Given the description of an element on the screen output the (x, y) to click on. 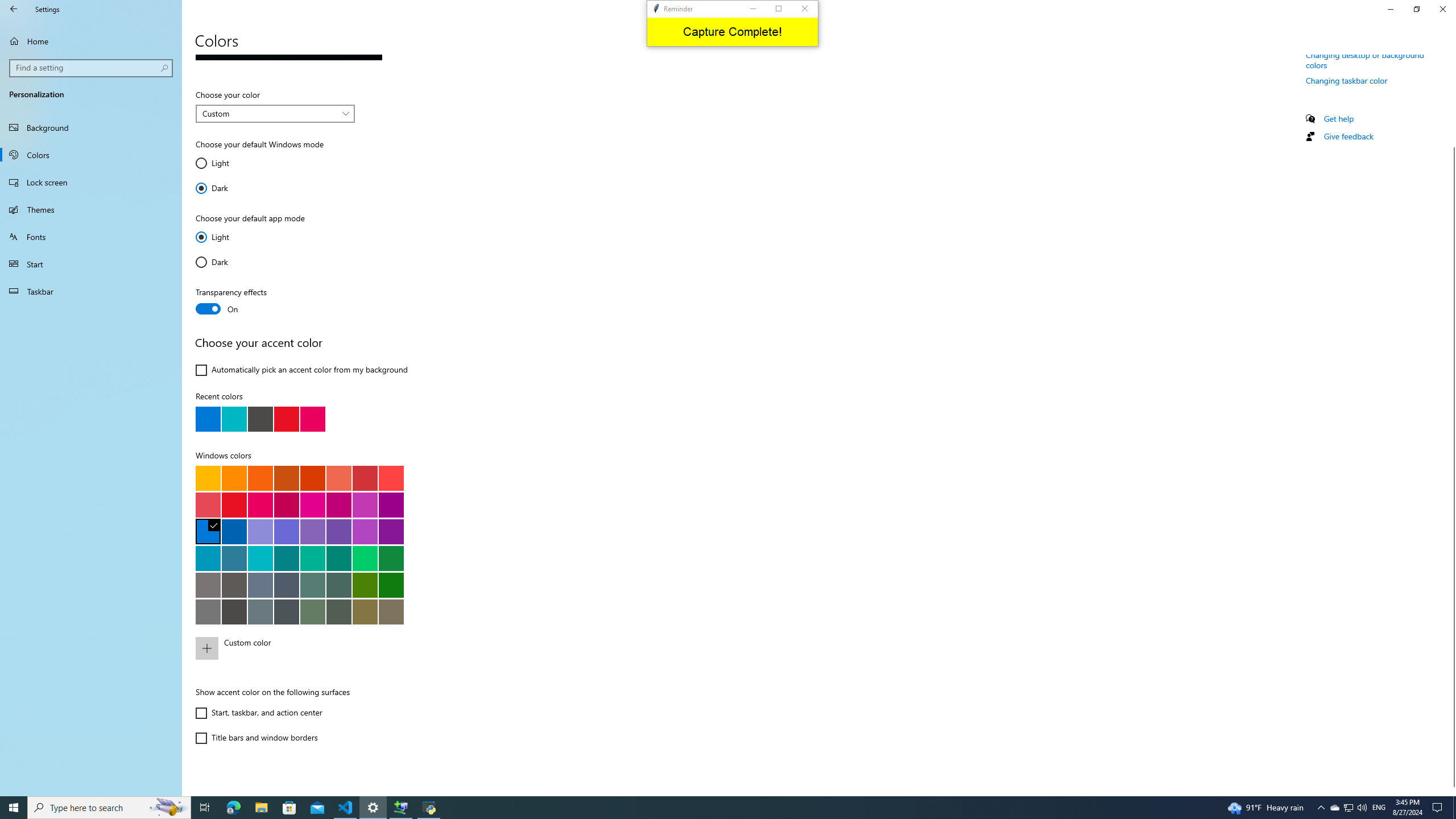
Gold (234, 477)
Changing taskbar color (1346, 80)
Green (390, 584)
Meadow green (364, 584)
Custom color (319, 648)
Liddy green (311, 611)
Vertical (1451, 425)
Turf green (364, 557)
Pale red (208, 504)
